Given the description of an element on the screen output the (x, y) to click on. 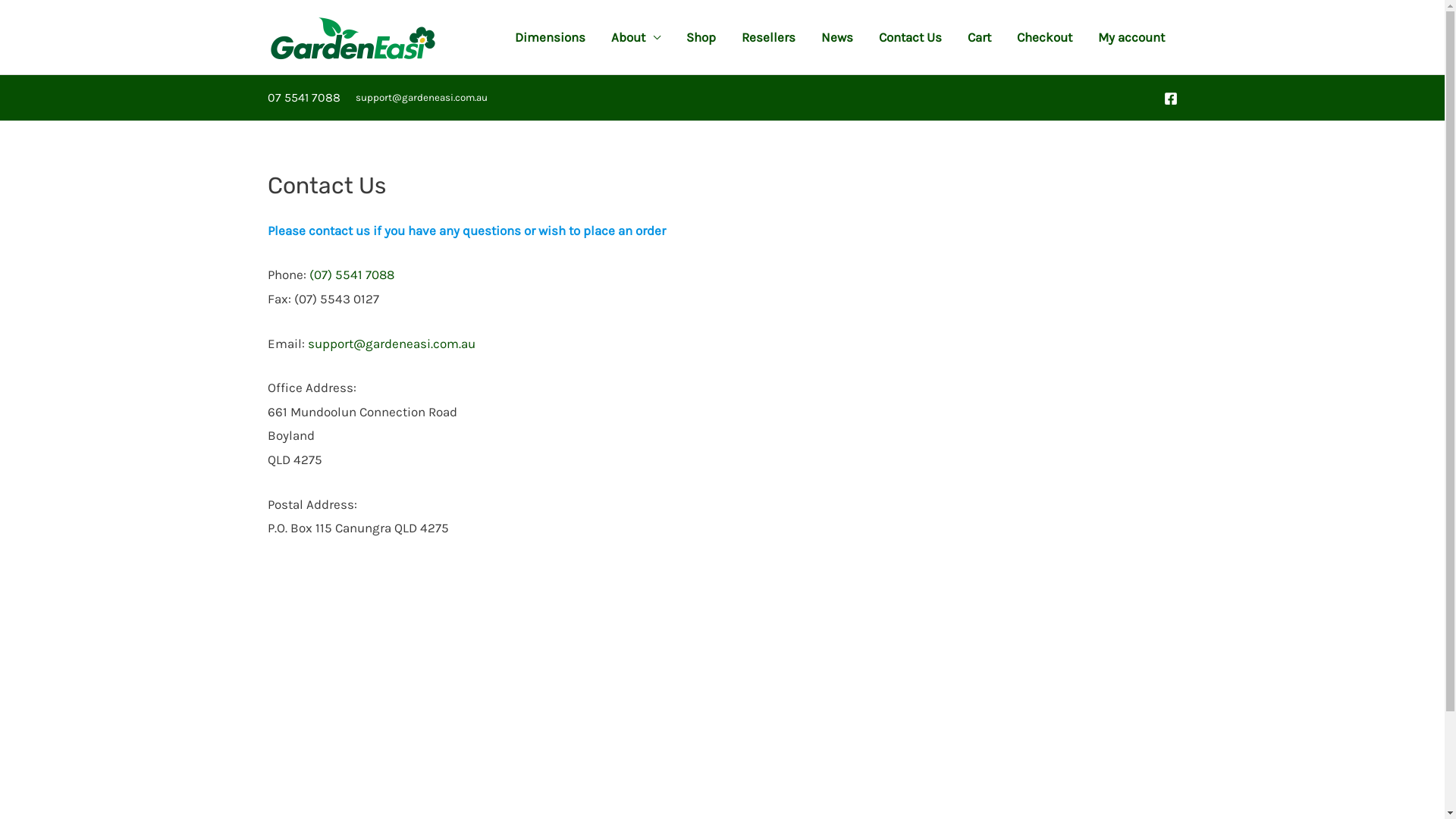
Resellers Element type: text (767, 36)
Cart Element type: text (978, 36)
My account Element type: text (1130, 36)
Dimensions Element type: text (550, 36)
support@gardeneasi.com.au Element type: text (420, 97)
Google Map for  Element type: hover (485, 674)
News Element type: text (837, 36)
Contact Us Element type: text (910, 36)
Checkout Element type: text (1044, 36)
About Element type: text (634, 36)
Shop Element type: text (700, 36)
(07) 5541 7088 Element type: text (351, 274)
07 5541 7088 Element type: text (302, 97)
support@gardeneasi.com.au Element type: text (391, 343)
